Given the description of an element on the screen output the (x, y) to click on. 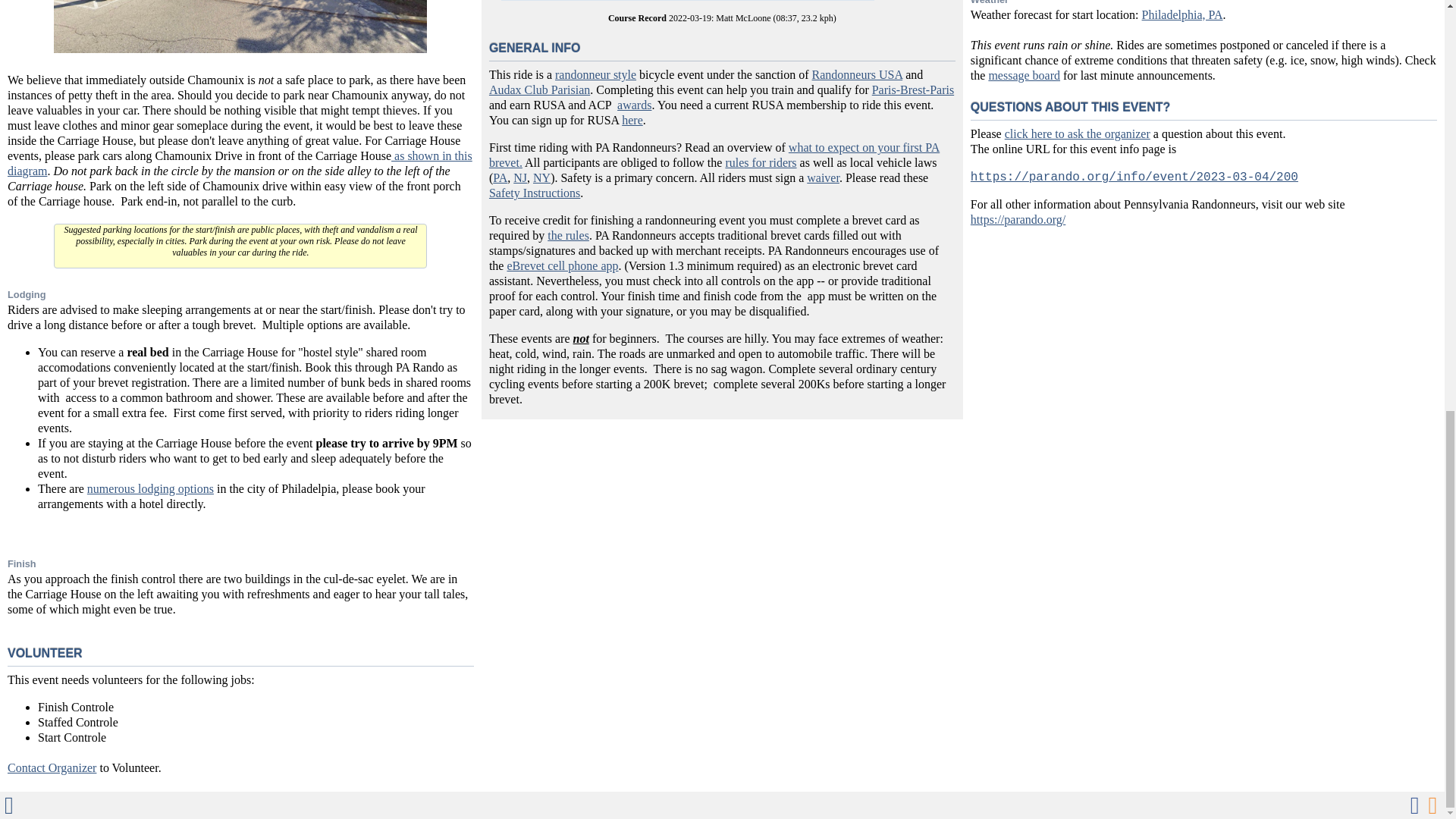
Paris-Brest-Paris (912, 89)
PA (499, 177)
as shown in this diagram (239, 163)
Contact Organizer (51, 767)
randonneur style (595, 74)
Audax Club Parisian (539, 89)
here (632, 119)
awards (633, 104)
numerous lodging options (150, 488)
rules for riders (760, 162)
what to expect on your first PA brevet. (714, 154)
Randonneurs USA (857, 74)
NJ (520, 177)
